Given the description of an element on the screen output the (x, y) to click on. 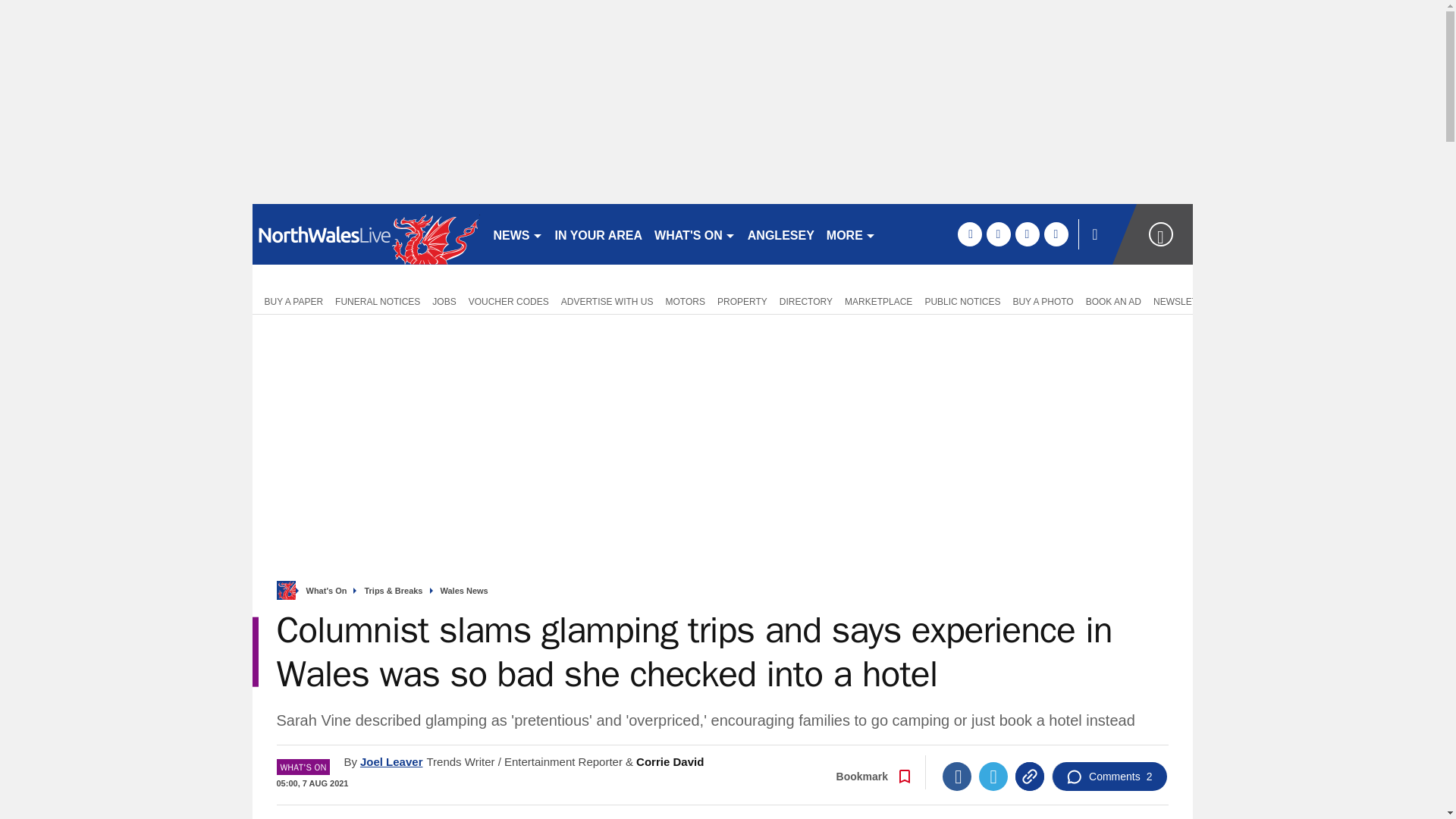
MORE (851, 233)
Facebook (956, 776)
VOUCHER CODES (508, 300)
twitter (997, 233)
MOTORS (685, 300)
WHAT'S ON (694, 233)
Comments (1108, 776)
northwales (365, 233)
NEWS (517, 233)
instagram (1055, 233)
